Given the description of an element on the screen output the (x, y) to click on. 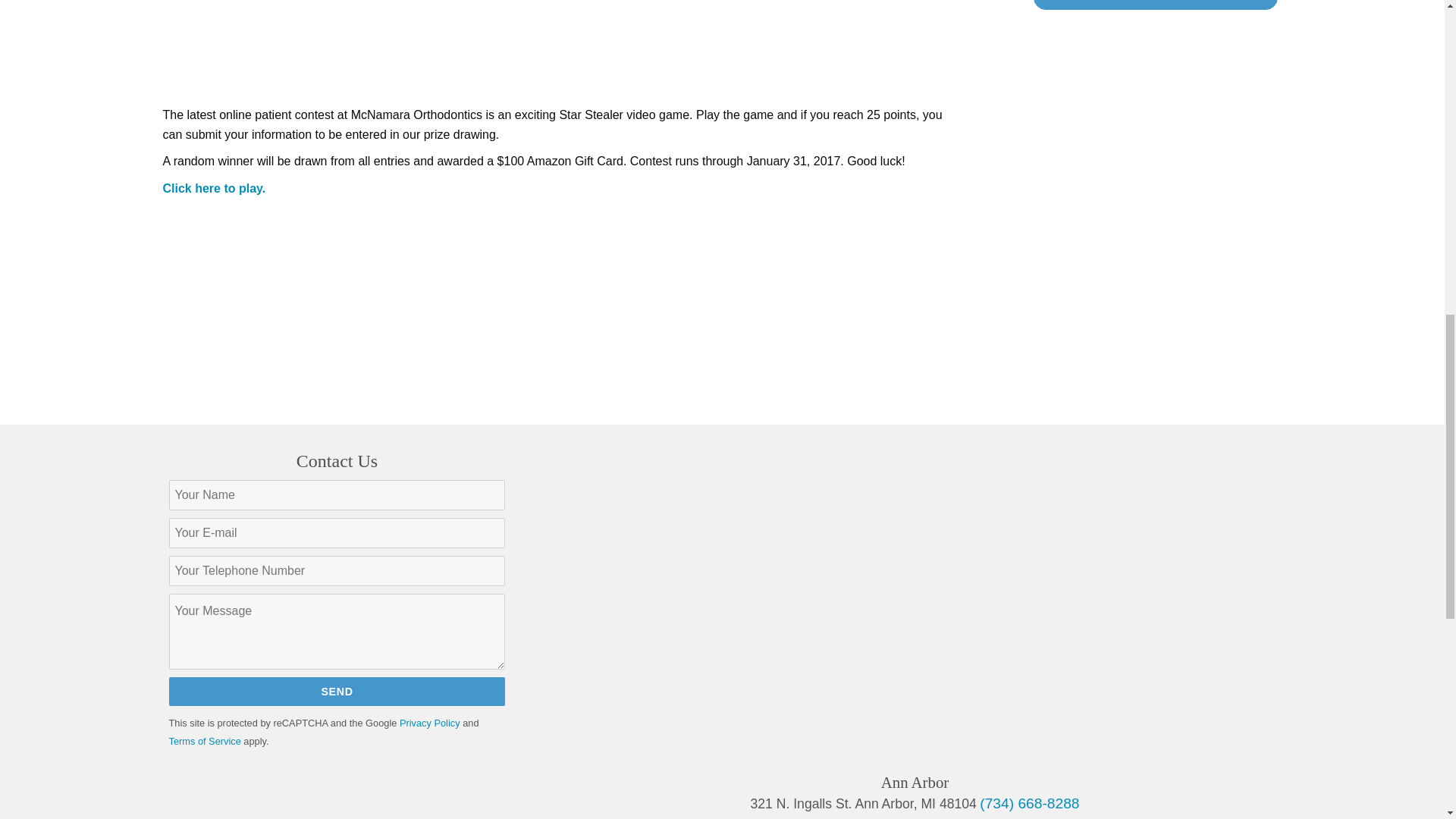
Send (336, 691)
